Given the description of an element on the screen output the (x, y) to click on. 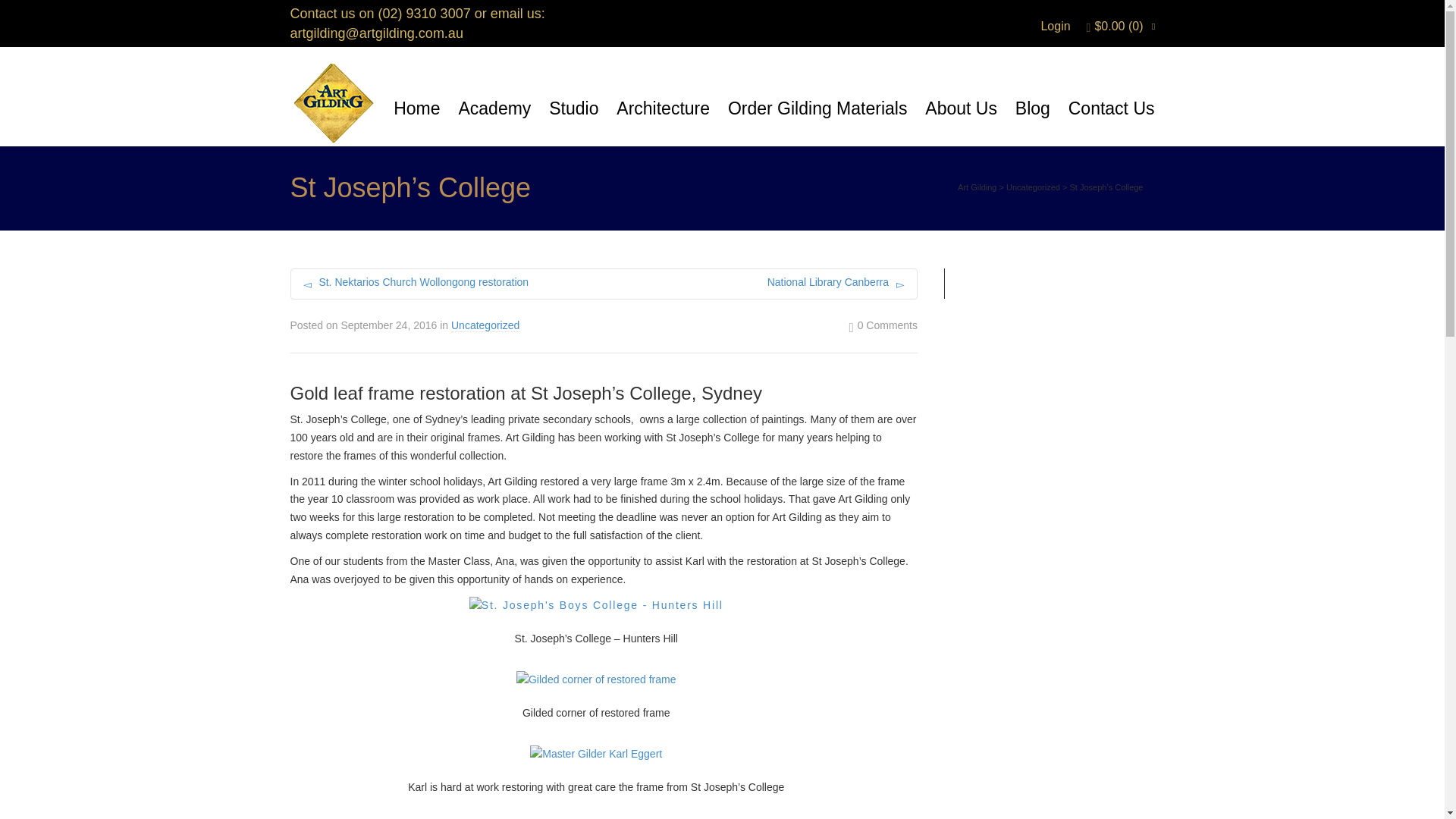
Login (1054, 26)
Go to the Uncategorized Category archives. (1032, 186)
Academy (494, 109)
Gilded corner of restored frame (596, 679)
Go to Art Gilding. (976, 186)
Home (416, 109)
Master Gilder Karl Eggert (595, 754)
View your shopping cart (1114, 26)
St. Joseph's Boys College - Hunters Hill (595, 606)
